Given the description of an element on the screen output the (x, y) to click on. 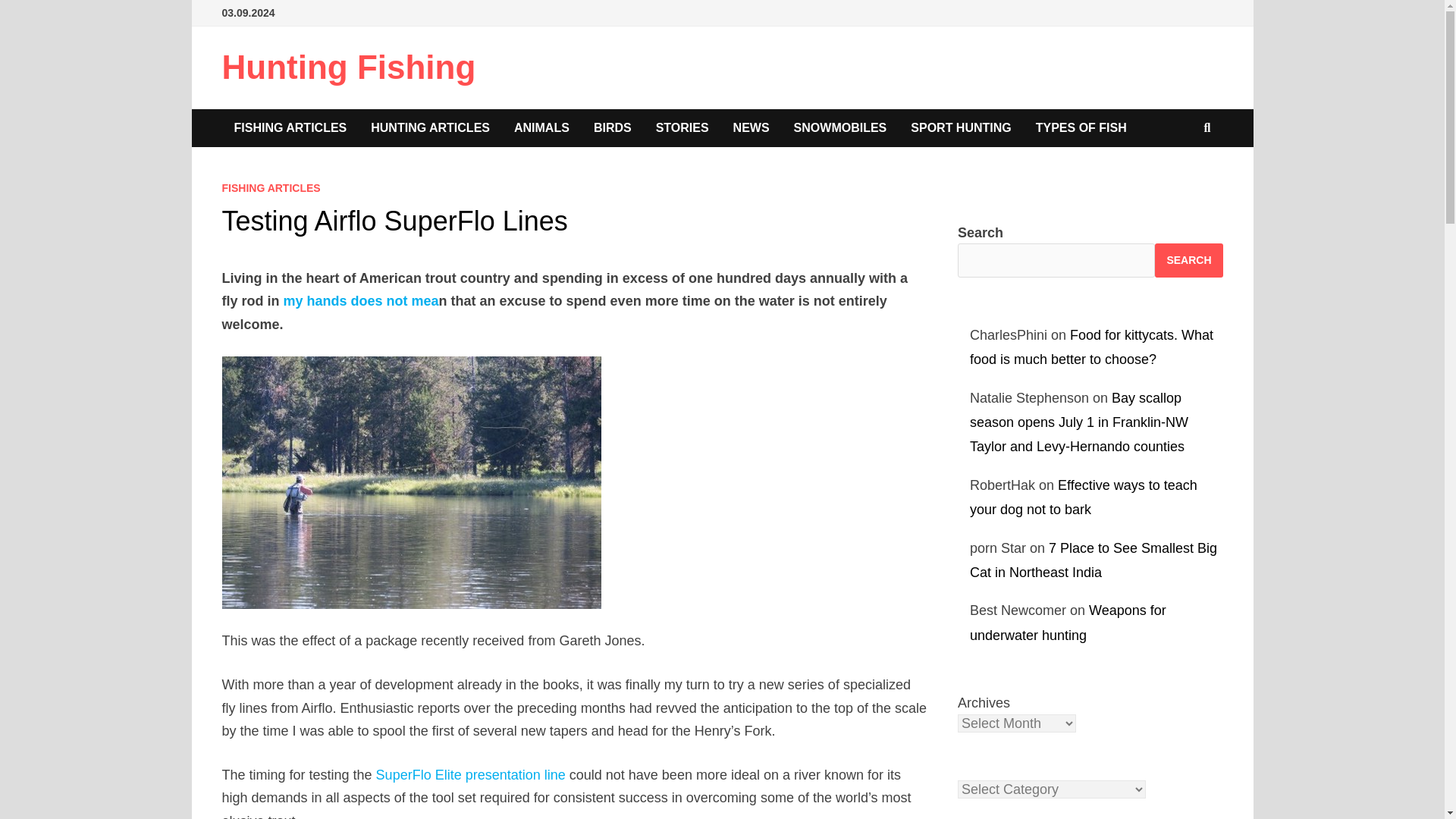
SEARCH (1188, 260)
NEWS (750, 127)
my hands does not mea (361, 300)
SuperFlo Elite presentation line (470, 774)
BIRDS (611, 127)
FISHING ARTICLES (289, 127)
FISHING ARTICLES (270, 187)
SPORT HUNTING (960, 127)
HUNTING ARTICLES (430, 127)
TYPES OF FISH (1080, 127)
